Given the description of an element on the screen output the (x, y) to click on. 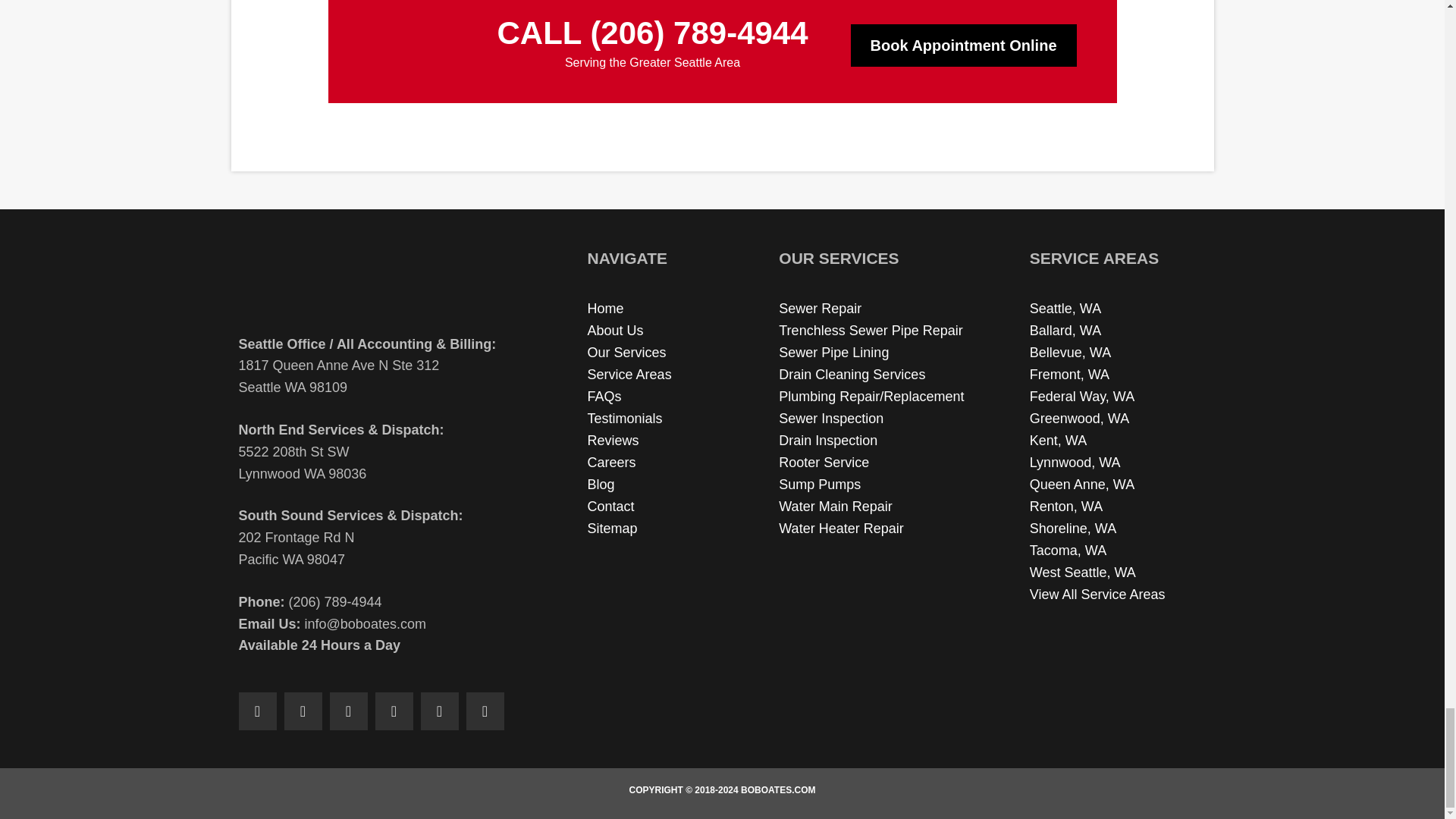
Bob Oates (371, 282)
bob-oates-seattle-wa-white (411, 44)
